Given the description of an element on the screen output the (x, y) to click on. 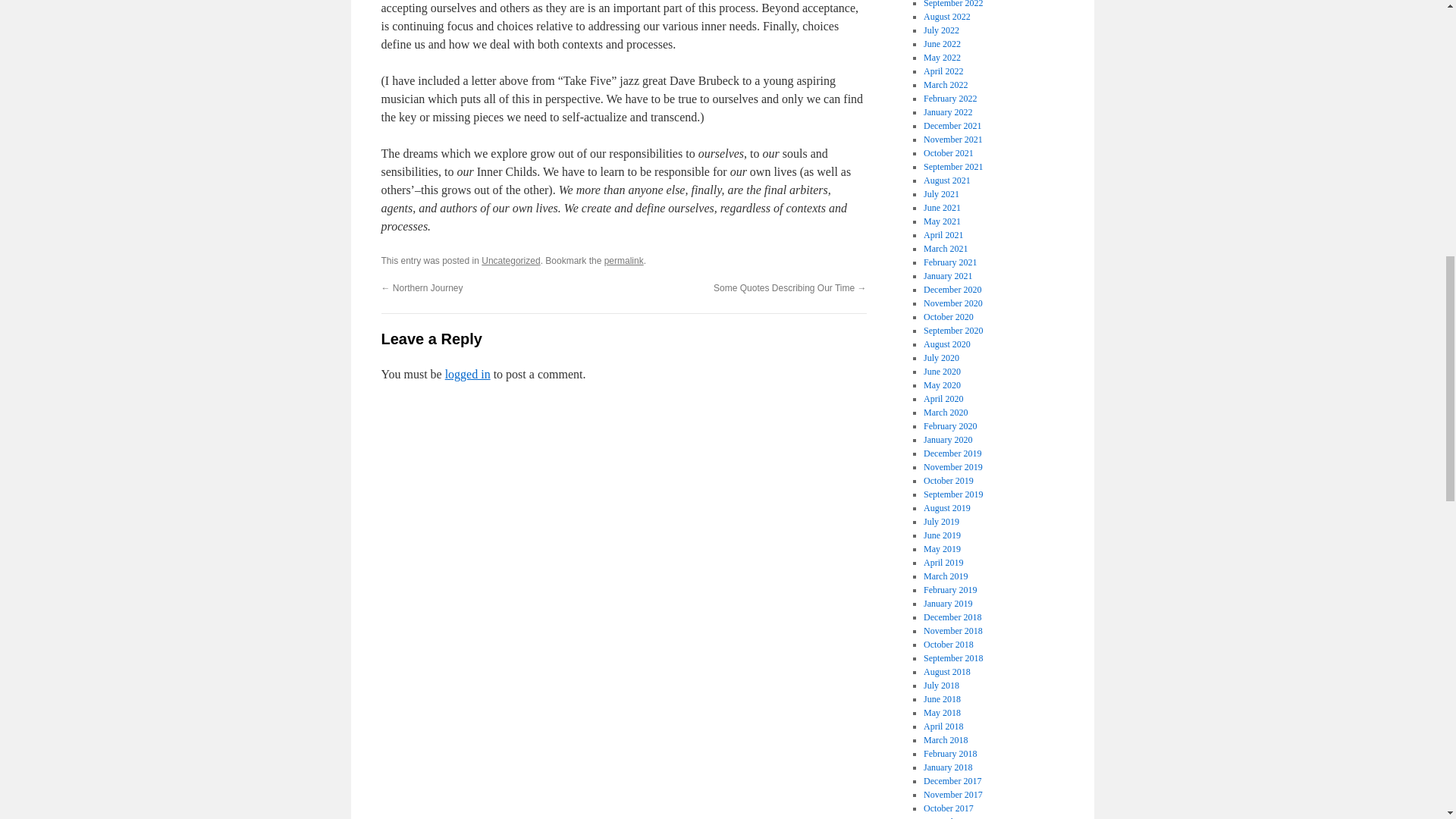
permalink (623, 260)
Uncategorized (510, 260)
logged in (467, 373)
